Given the description of an element on the screen output the (x, y) to click on. 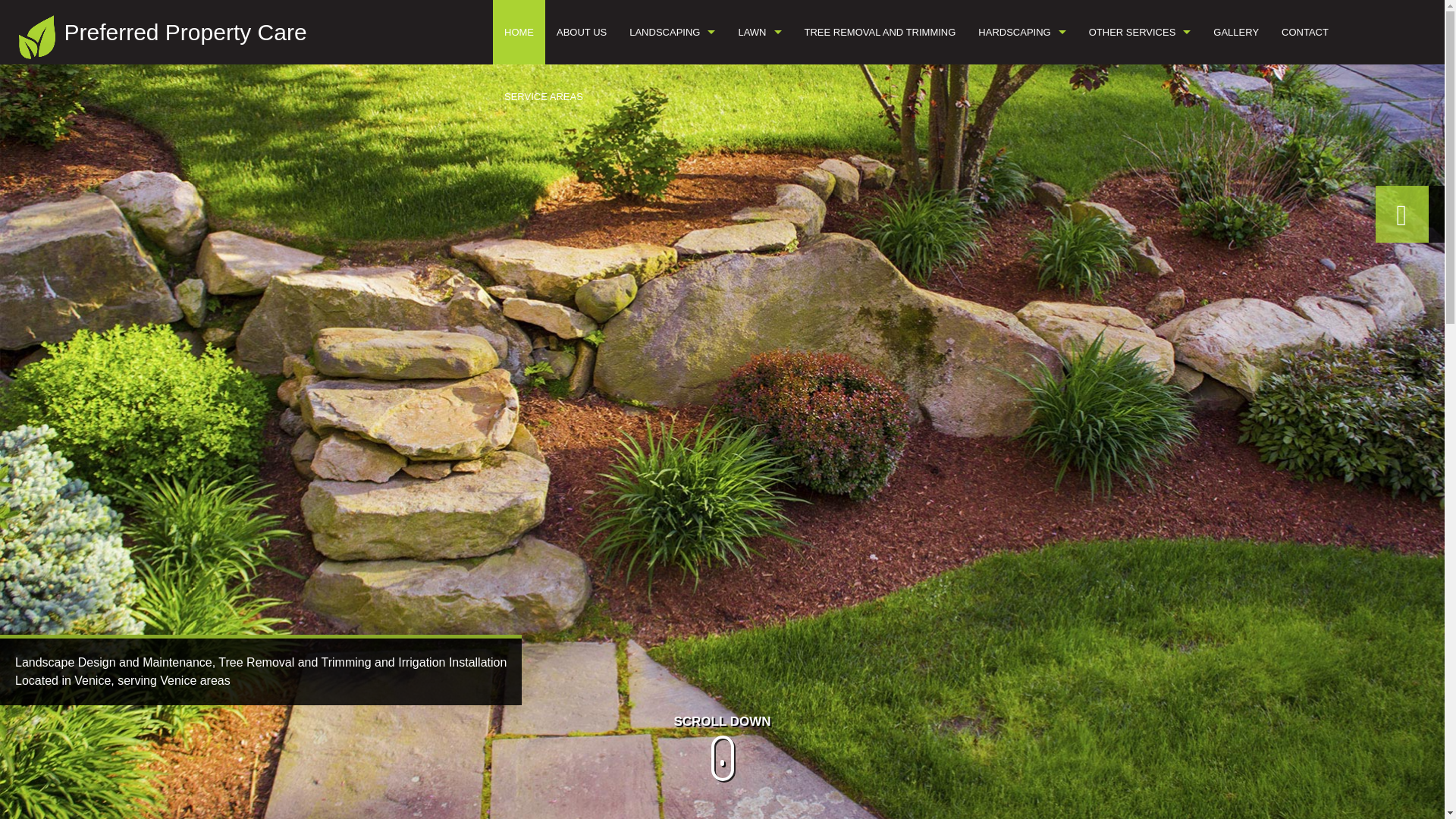
CONTACT (1304, 32)
OTHER SERVICES (1139, 32)
ABOUT US (580, 32)
Preferred Property Care (184, 32)
LAWN (759, 32)
TREE REMOVAL AND TRIMMING (880, 32)
GALLERY (1235, 32)
HARDSCAPING (1021, 32)
LANDSCAPING (671, 32)
